Given the description of an element on the screen output the (x, y) to click on. 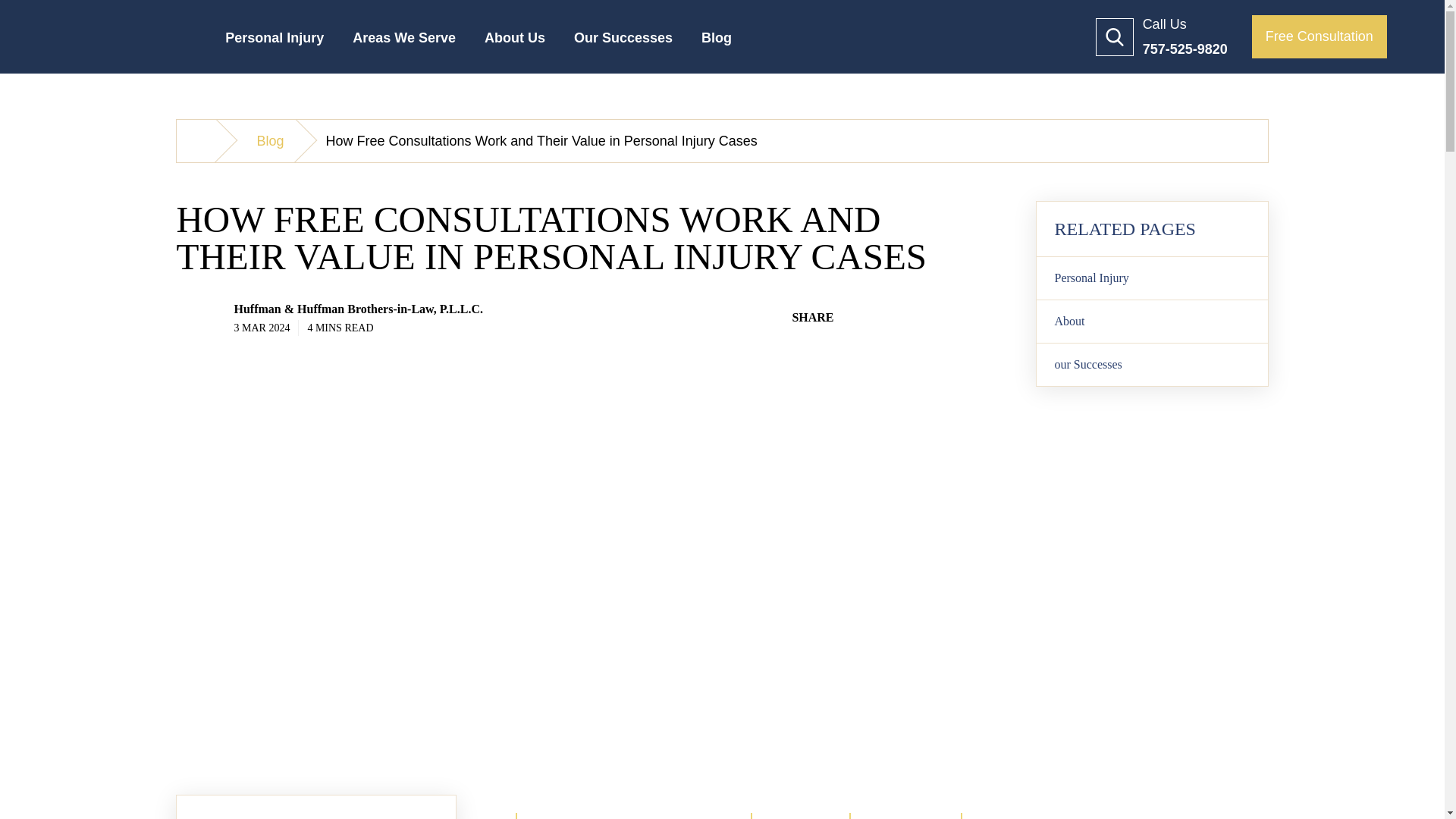
Blog (716, 44)
About Us (514, 44)
Personal Injury (274, 44)
Areas We Serve (404, 44)
Our Successes (622, 44)
Search Icon (1114, 36)
logo (133, 36)
Huffman (203, 140)
